Given the description of an element on the screen output the (x, y) to click on. 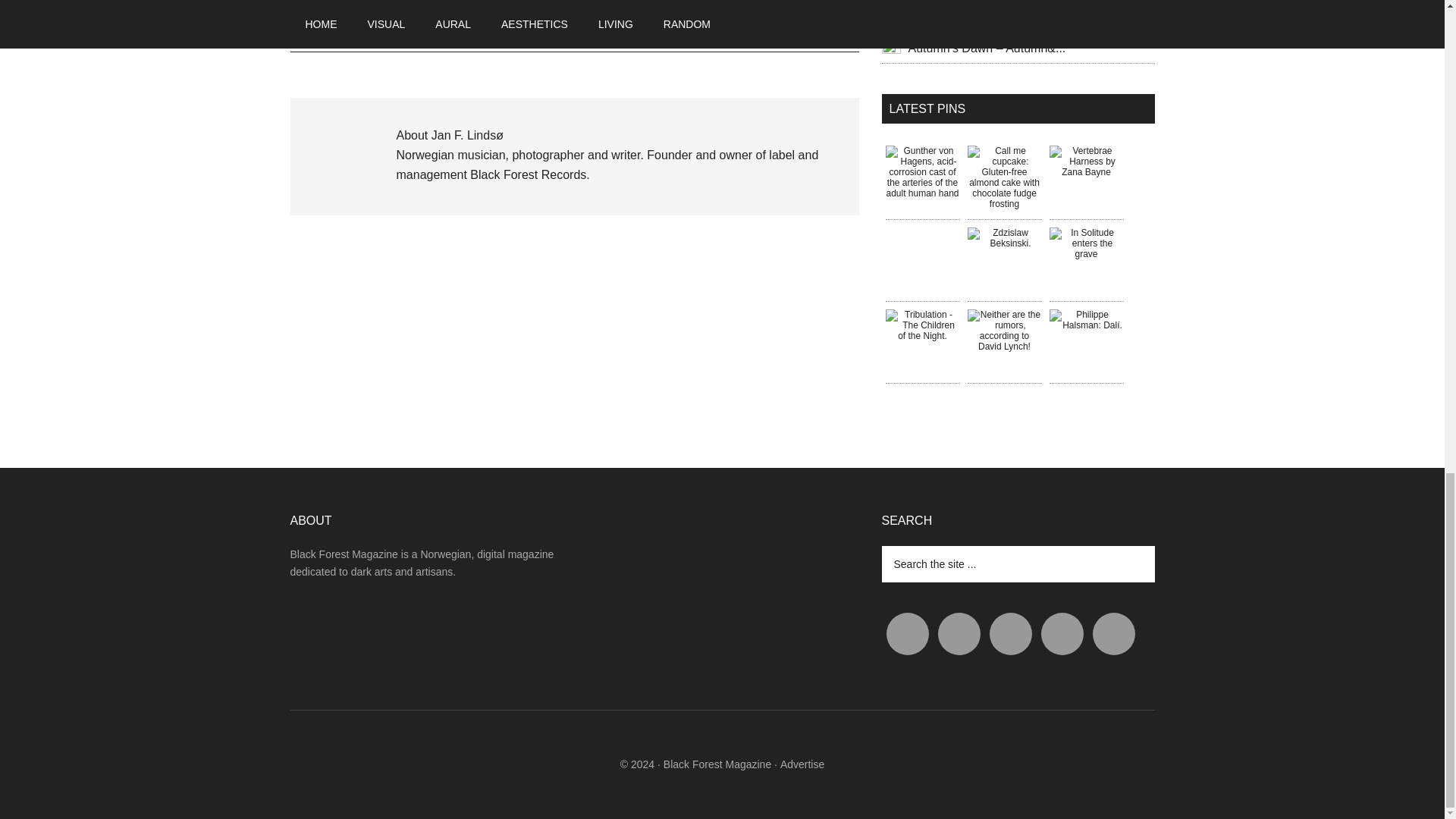
Black Forest Records (528, 174)
